Given the description of an element on the screen output the (x, y) to click on. 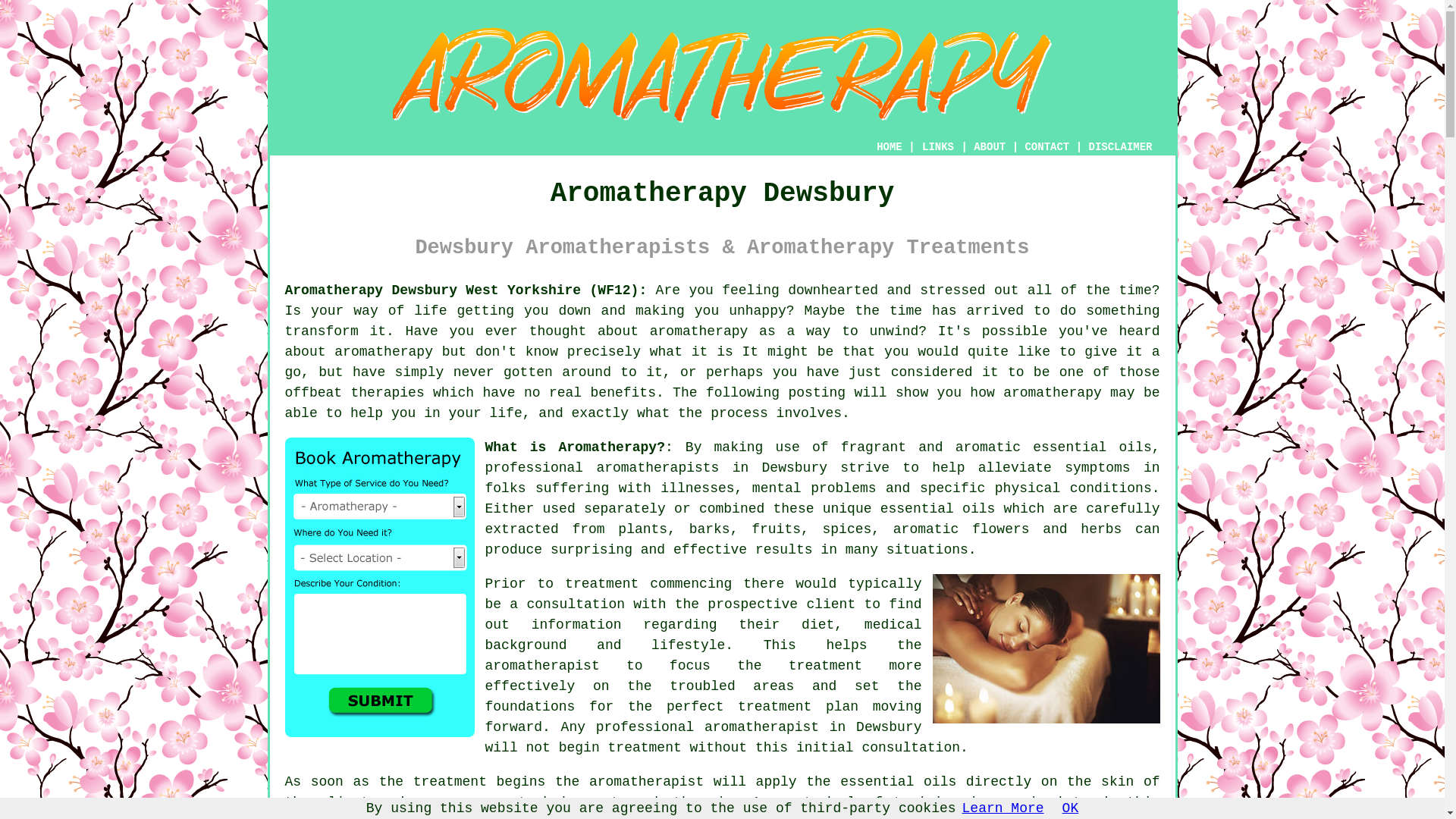
LINKS (938, 146)
symptoms (1096, 467)
Aromatherapy Dewsbury West Yorkshire UK (466, 290)
Aromatherapy Dewsbury West Yorkshire (722, 75)
massage (1131, 816)
HOME (889, 146)
aromatherapy (698, 331)
consultation (574, 604)
aromatherapy (383, 351)
Have you ever (462, 331)
